Given the description of an element on the screen output the (x, y) to click on. 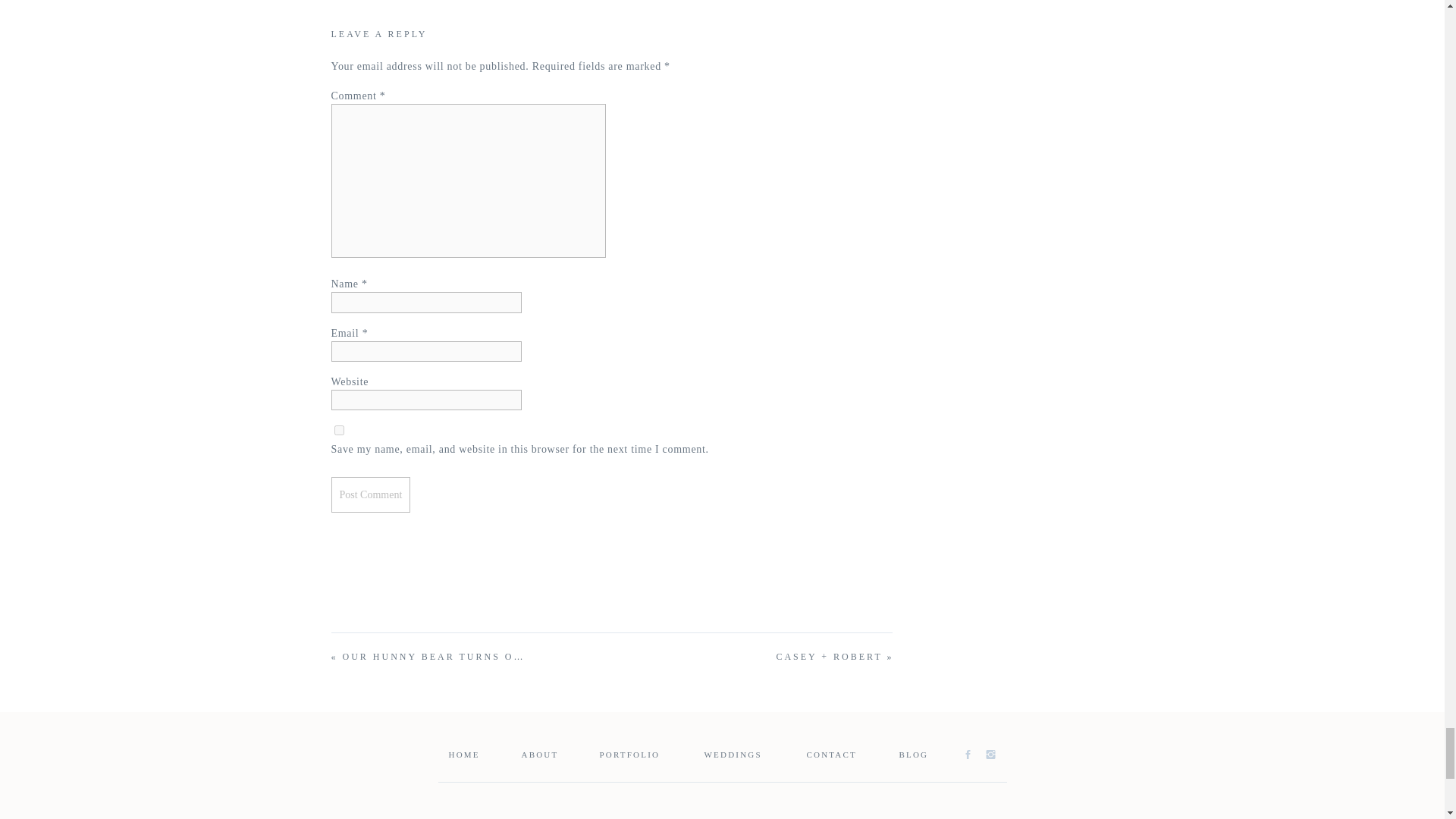
yes (338, 429)
Post Comment (370, 494)
